Given the description of an element on the screen output the (x, y) to click on. 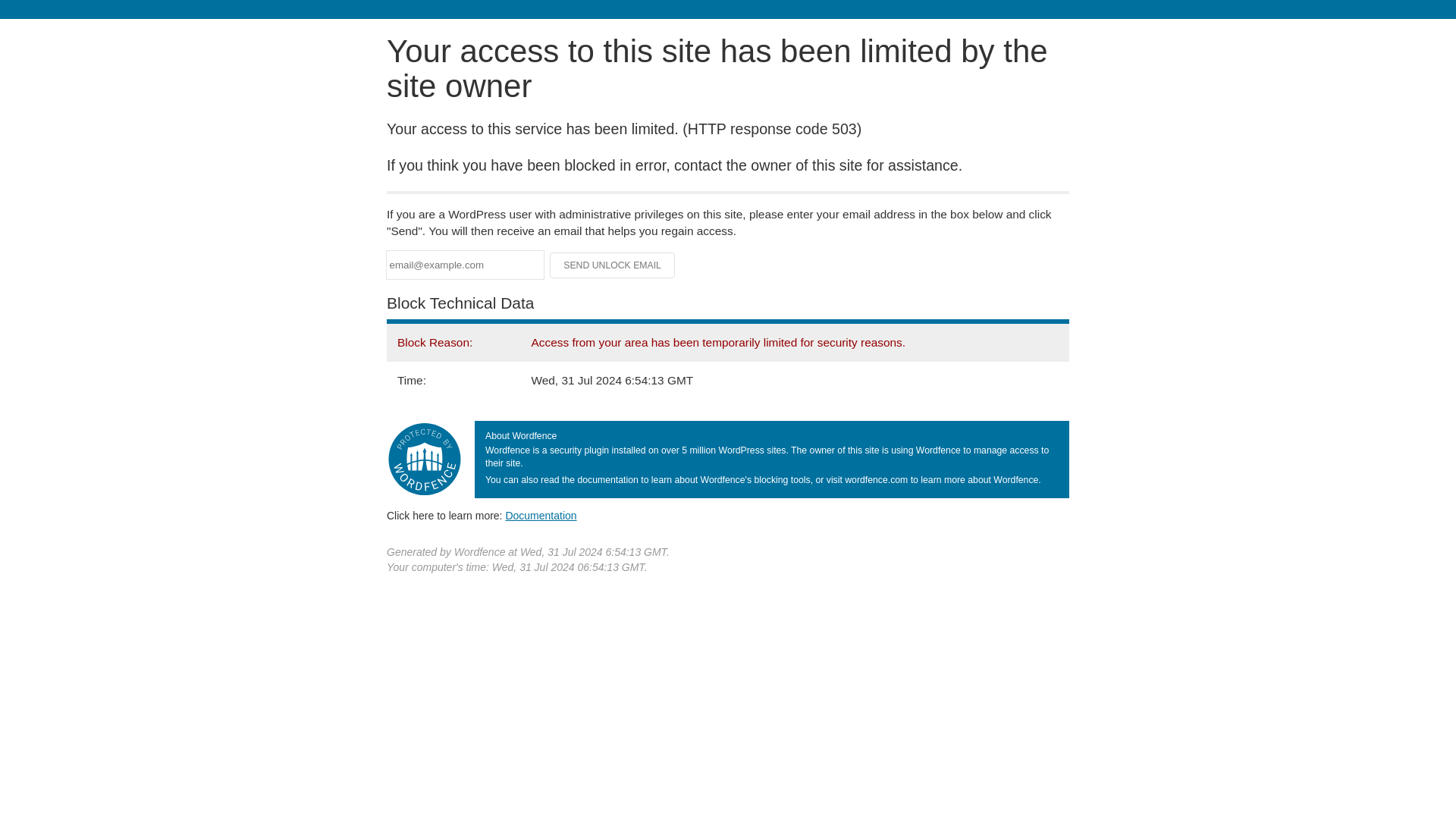
Send Unlock Email (612, 265)
Send Unlock Email (612, 265)
Documentation (540, 515)
